Given the description of an element on the screen output the (x, y) to click on. 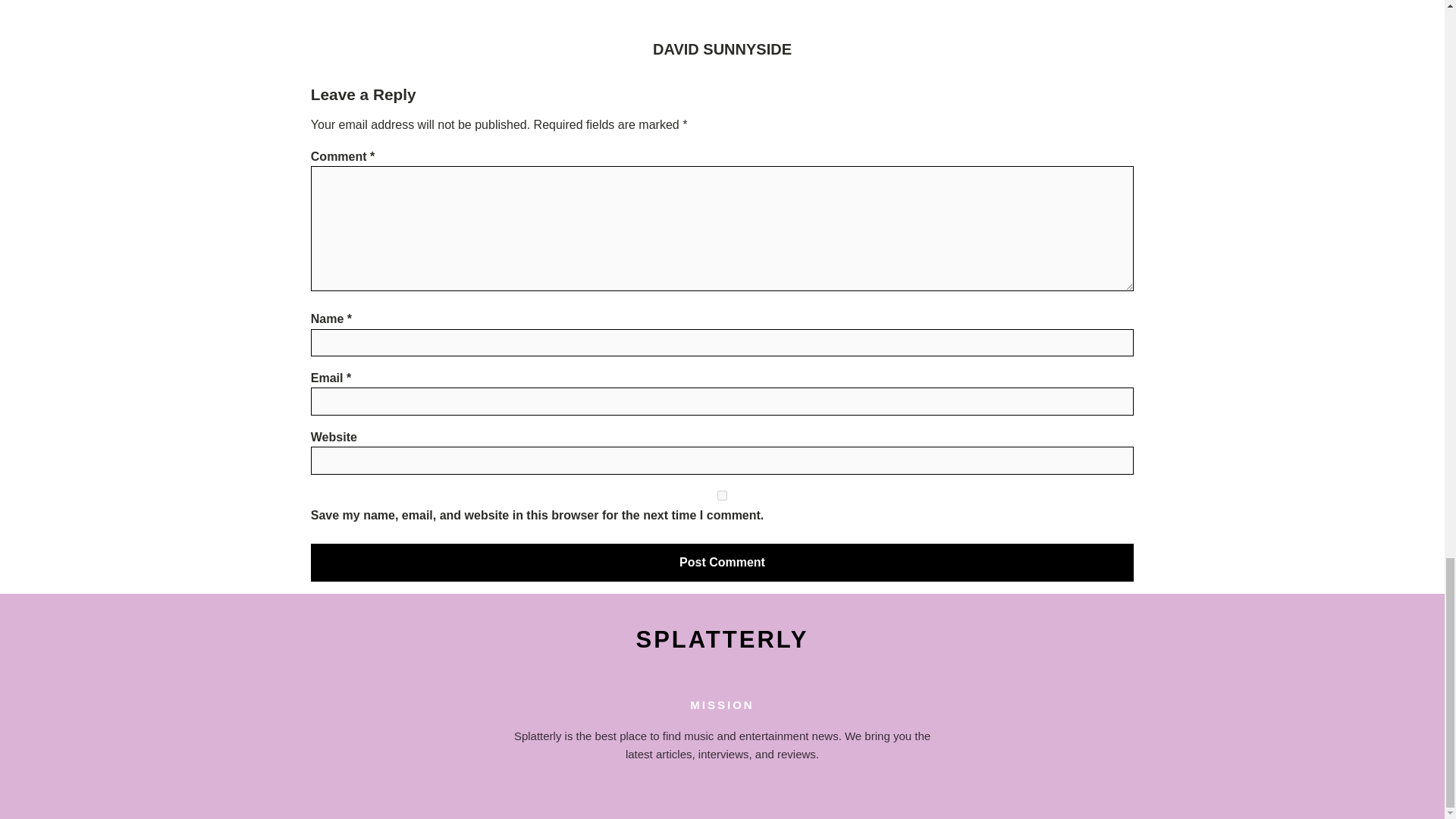
SPLATTERLY (721, 639)
Post Comment (722, 562)
Post Comment (722, 562)
yes (722, 495)
